Given the description of an element on the screen output the (x, y) to click on. 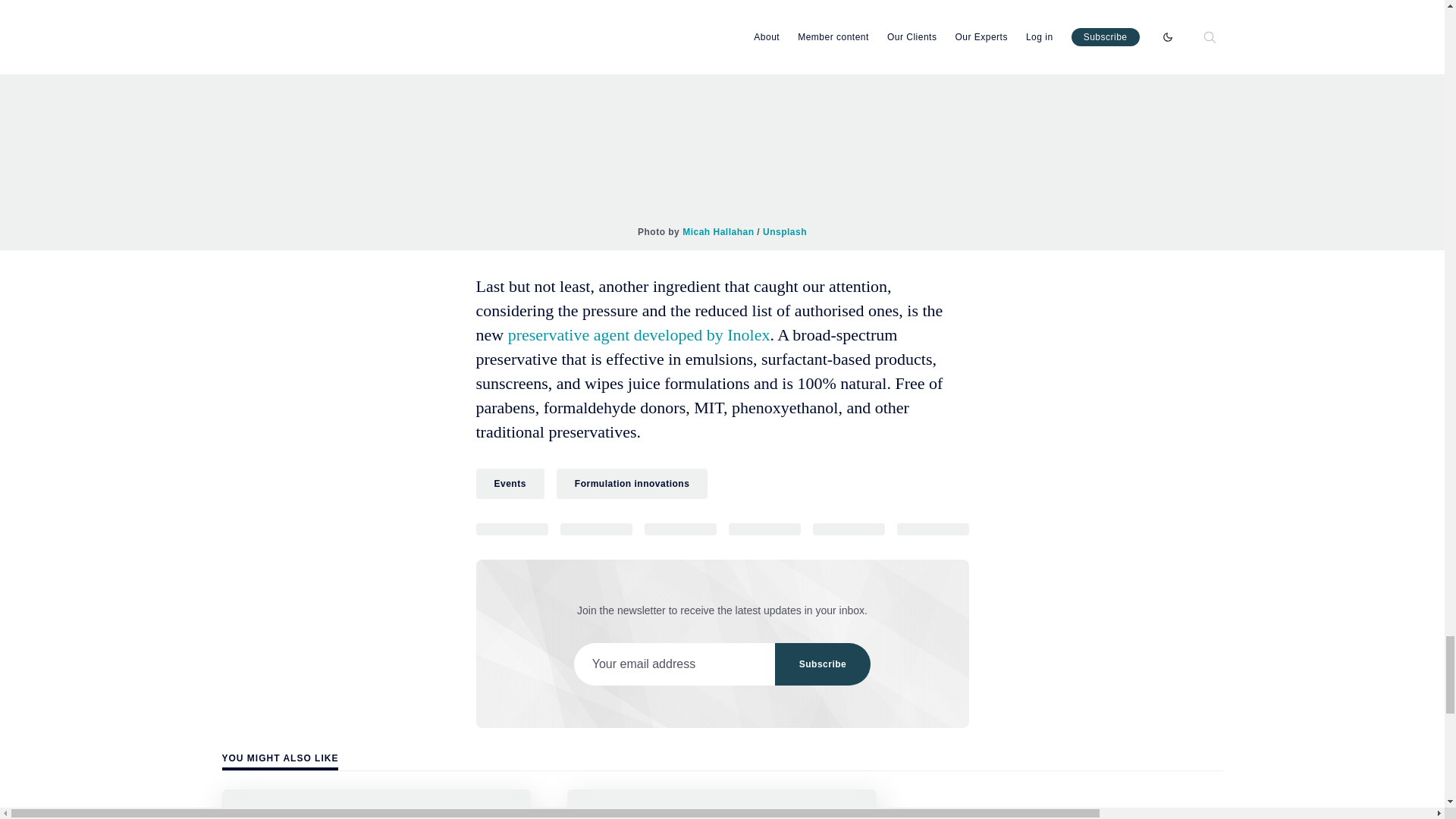
Share on Pinterest (763, 529)
Micah Hallahan (718, 231)
Share via Email (848, 529)
Share on LinkedIn (680, 529)
Unsplash (784, 231)
Events (510, 483)
Formulation innovations (631, 483)
Share on Facebook (595, 529)
Share on Twitter (512, 529)
Subscribe (822, 663)
Copy link (932, 529)
preservative agent developed by Inolex (636, 333)
